Given the description of an element on the screen output the (x, y) to click on. 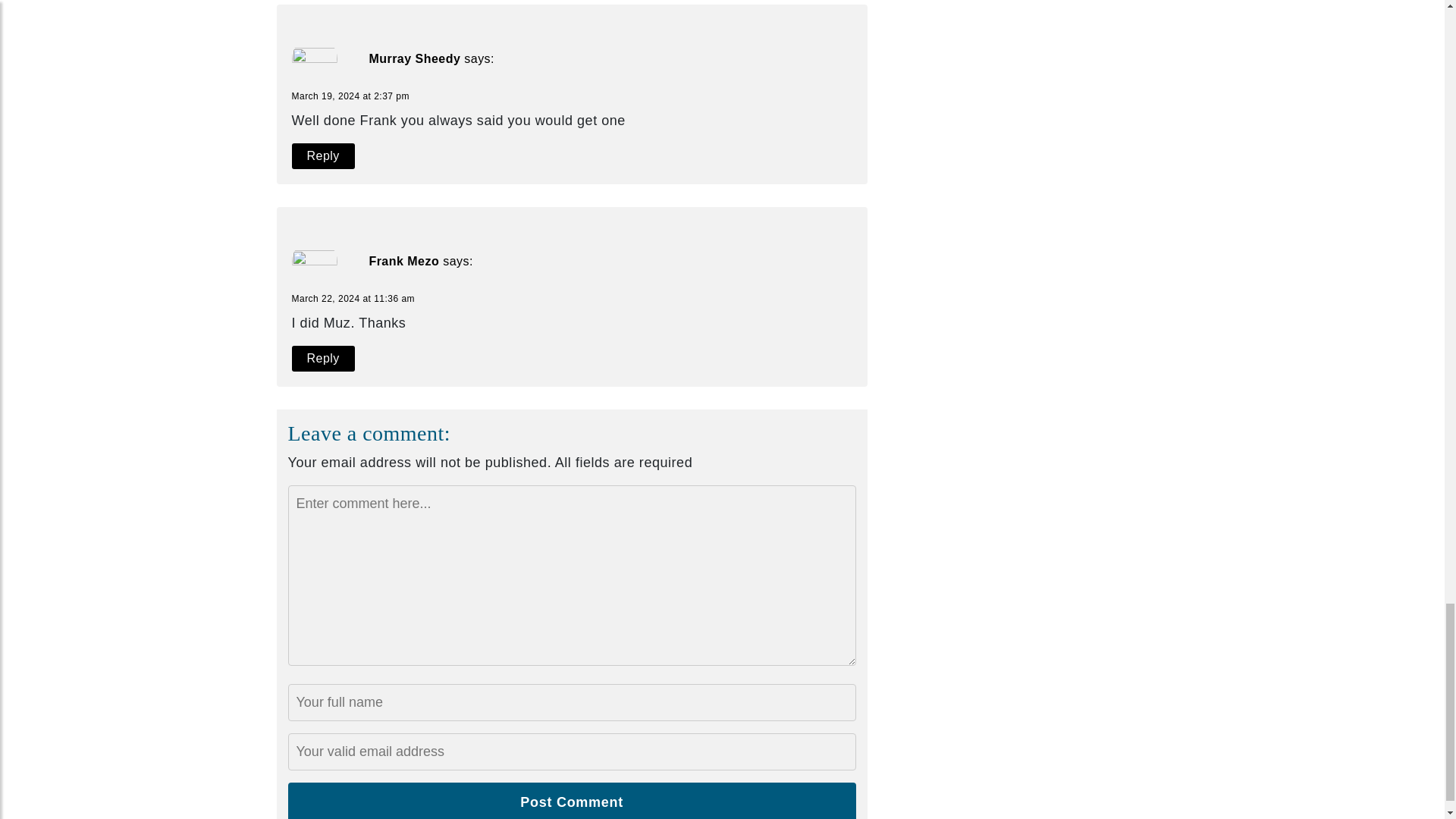
Post Comment (572, 800)
